Given the description of an element on the screen output the (x, y) to click on. 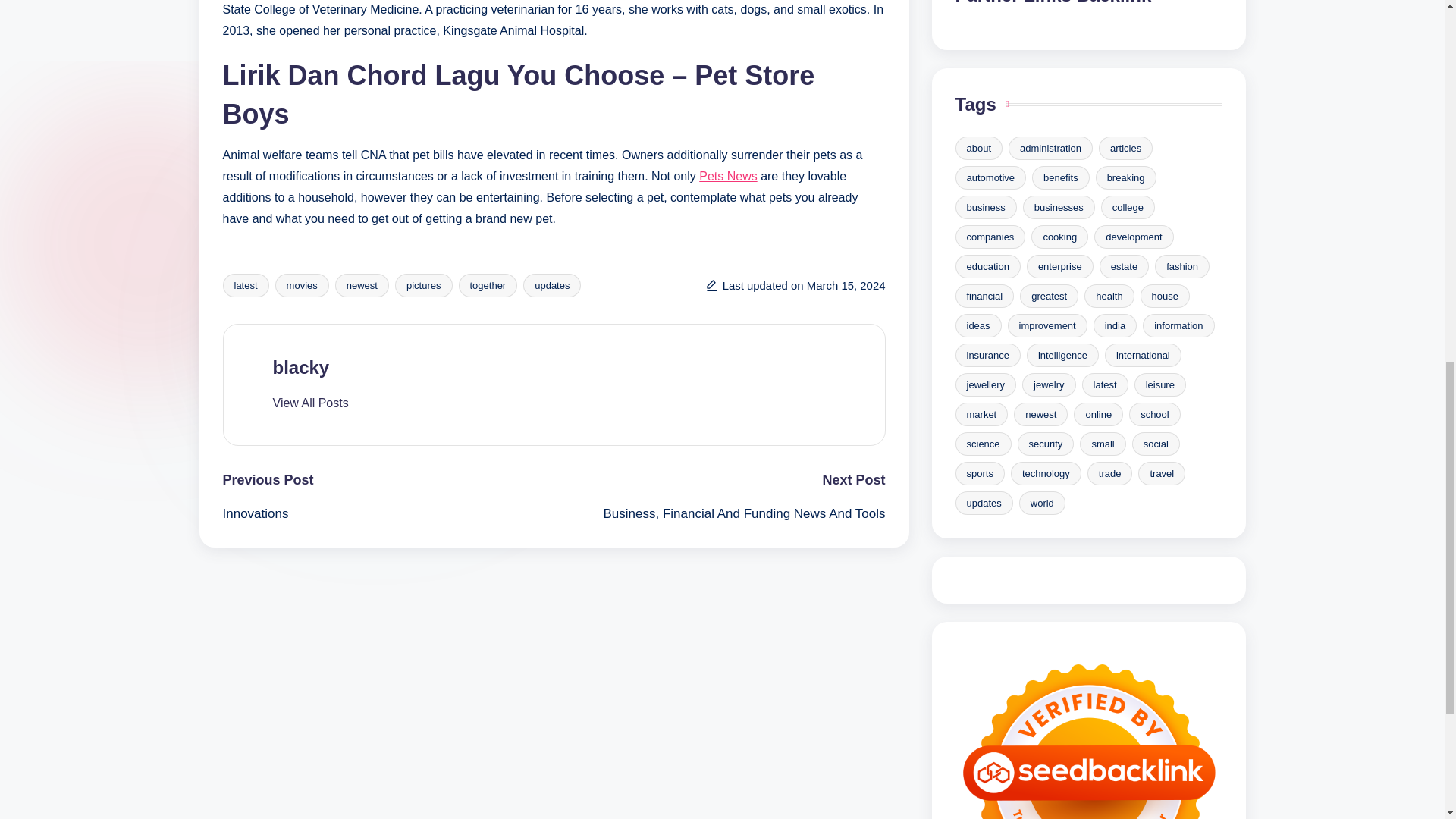
updates (551, 285)
Business, Financial And Funding News And Tools (719, 514)
pictures (423, 285)
together (487, 285)
newest (361, 285)
Seedbacklink (1089, 732)
Innovations (388, 514)
latest (245, 285)
View All Posts (311, 403)
movies (302, 285)
Pets News (727, 175)
blacky (301, 367)
